Given the description of an element on the screen output the (x, y) to click on. 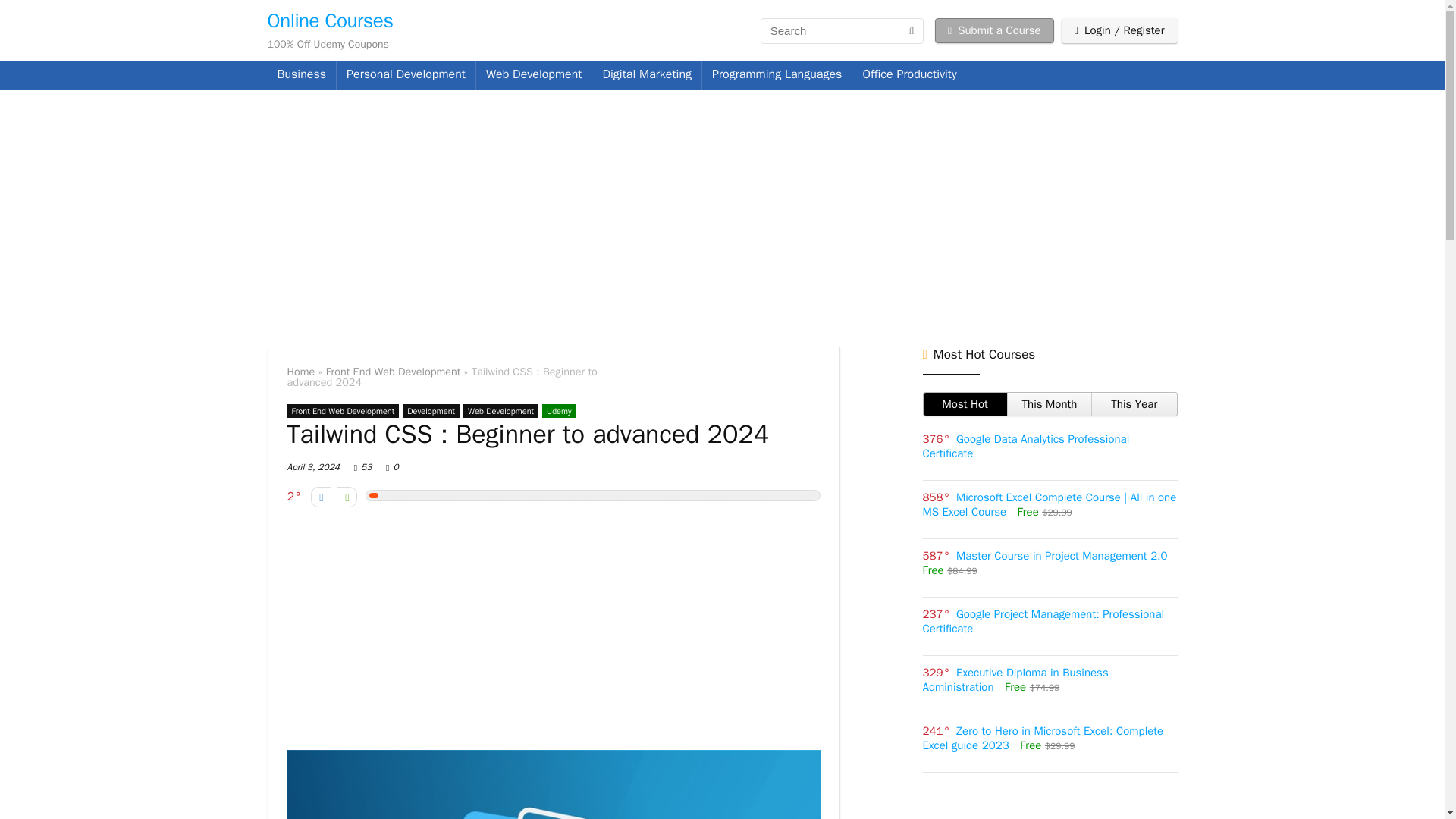
View all posts in Web Development (500, 410)
Master Course in Project Management 2.0 (1061, 555)
Vote up (346, 496)
Front End Web Development (393, 371)
View all posts in Udemy (558, 410)
Development (431, 410)
Personal Development (406, 75)
Udemy (558, 410)
Business (301, 75)
Google Data Analytics Professional Certificate (1025, 446)
